Given the description of an element on the screen output the (x, y) to click on. 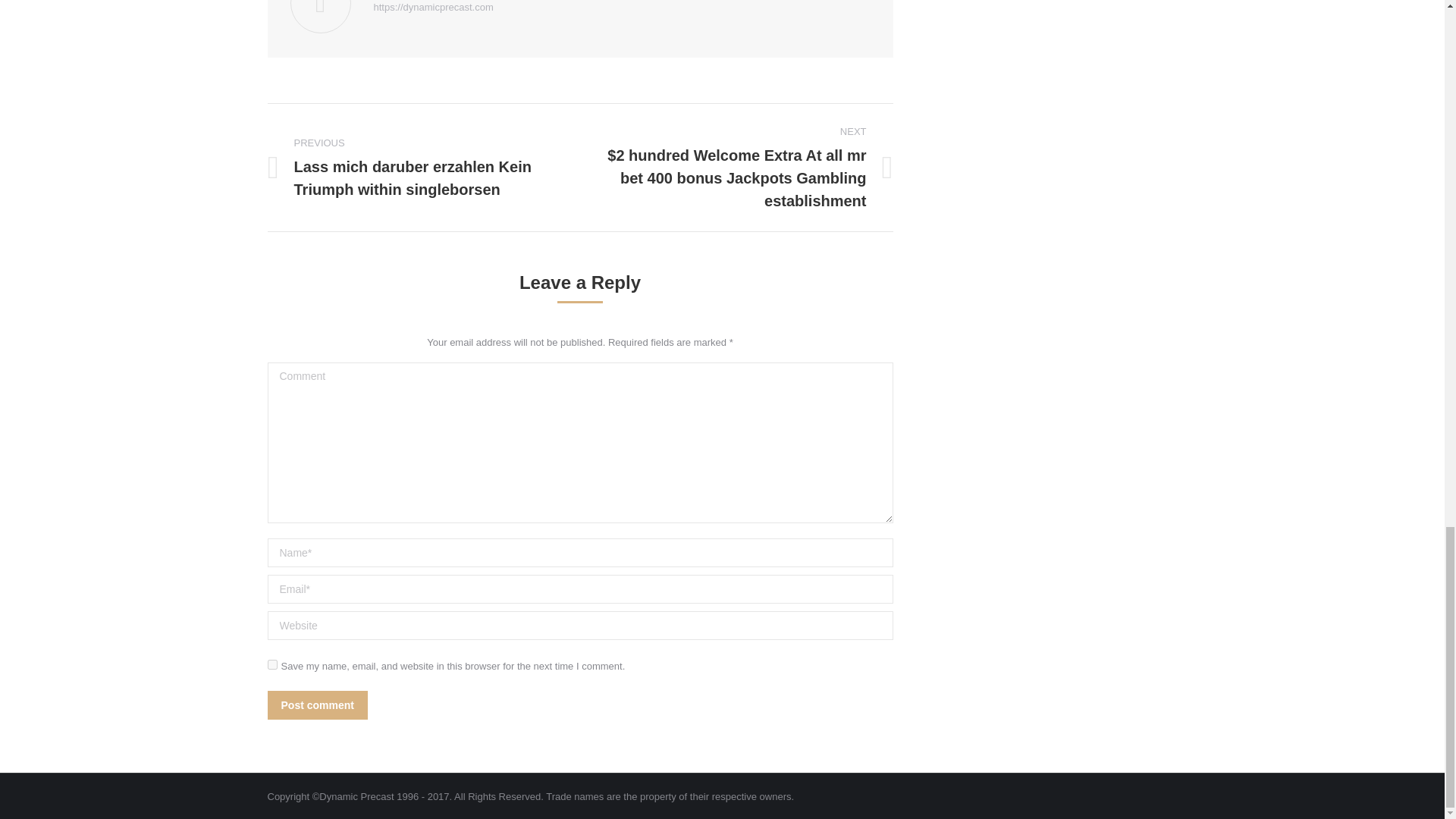
yes (271, 664)
